Given the description of an element on the screen output the (x, y) to click on. 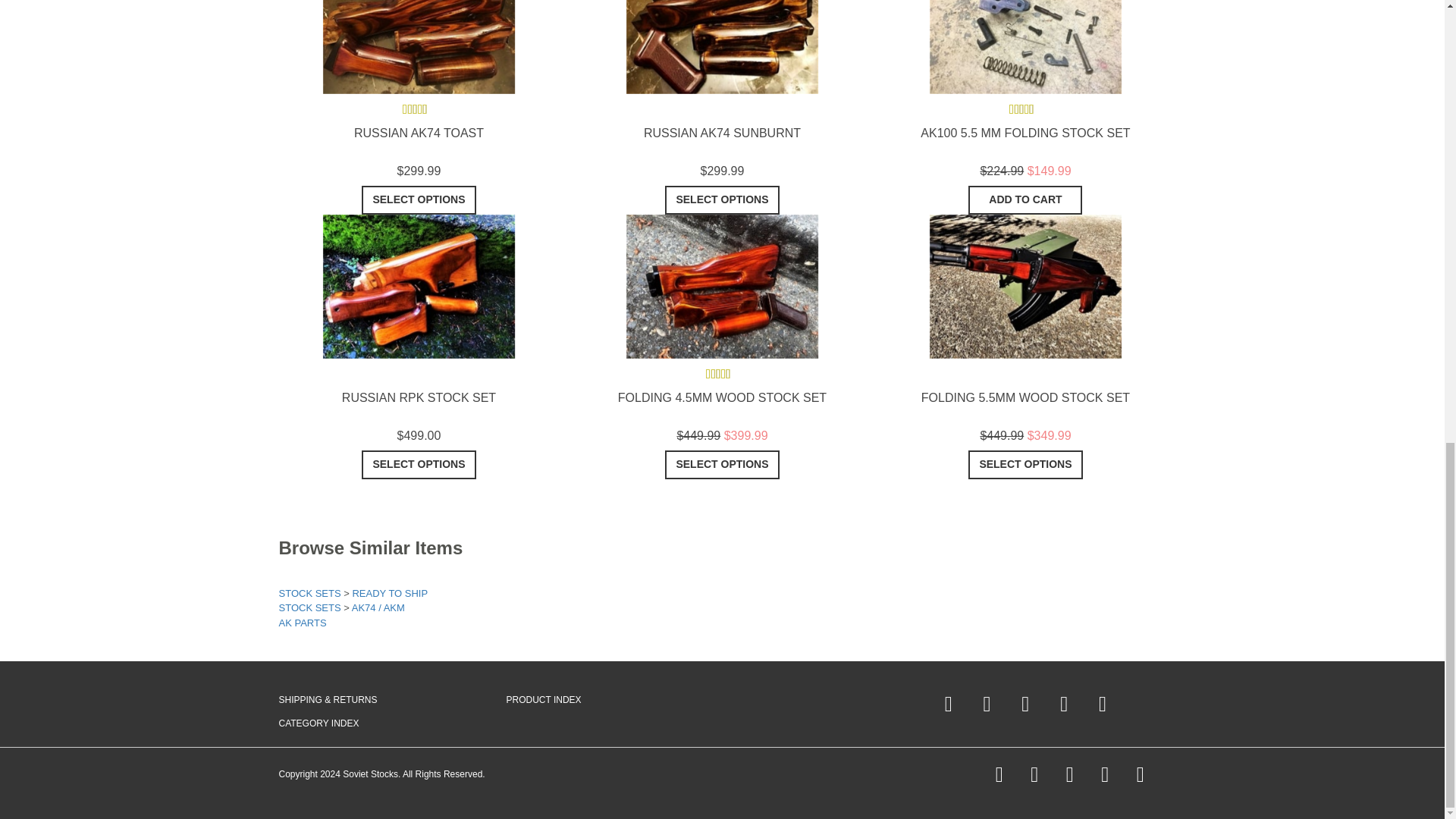
Follow Us on Twitter (1025, 703)
Follow Us on Instagram (1102, 703)
Subscribe to our Channel (1063, 703)
Follow Us on Pinterest (986, 703)
Like Us on Facebook (947, 703)
